Given the description of an element on the screen output the (x, y) to click on. 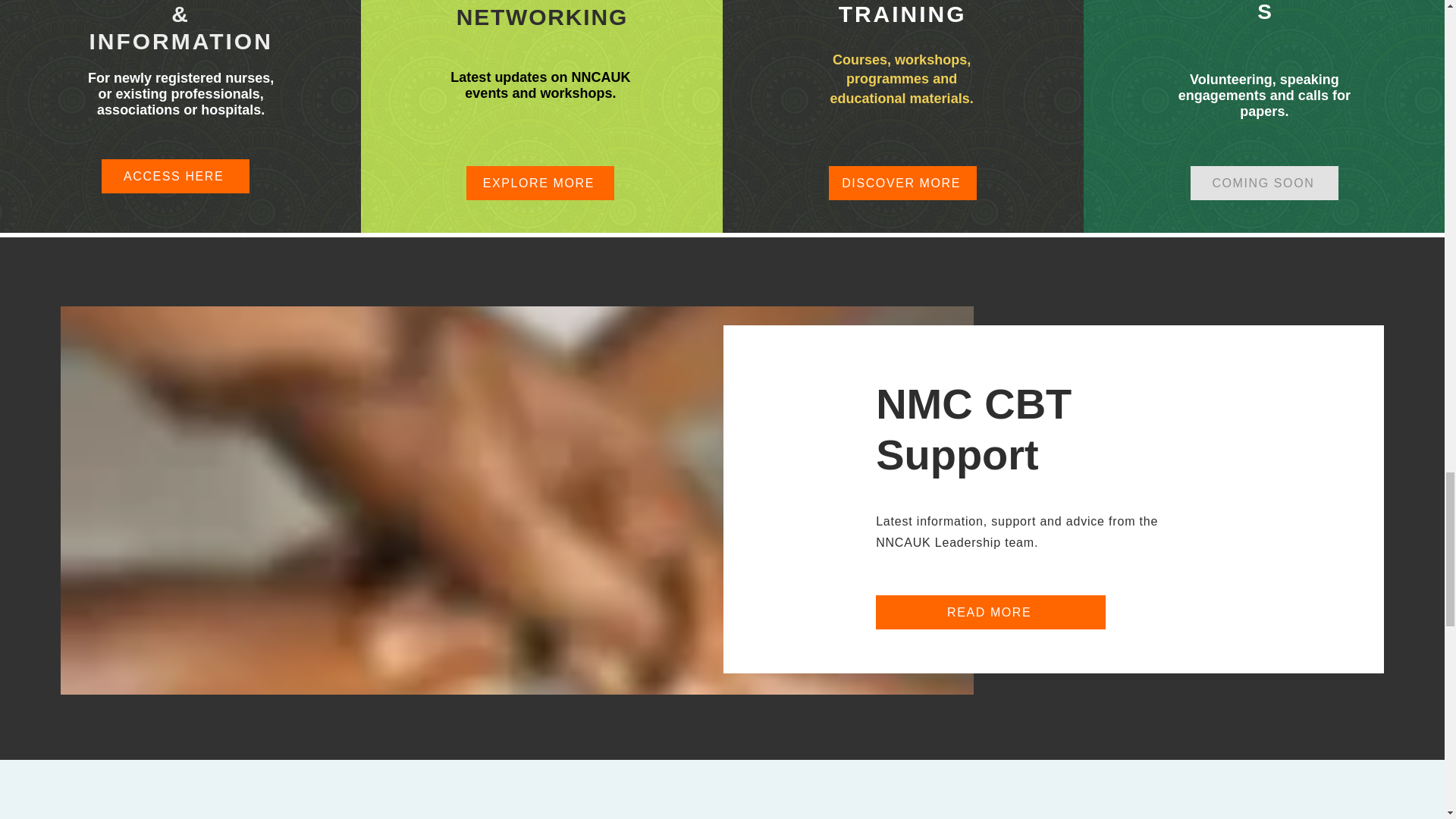
READ MORE (990, 612)
COMING SOON (1264, 182)
DISCOVER MORE (902, 182)
ACCESS HERE (174, 175)
EXPLORE MORE (539, 182)
